Given the description of an element on the screen output the (x, y) to click on. 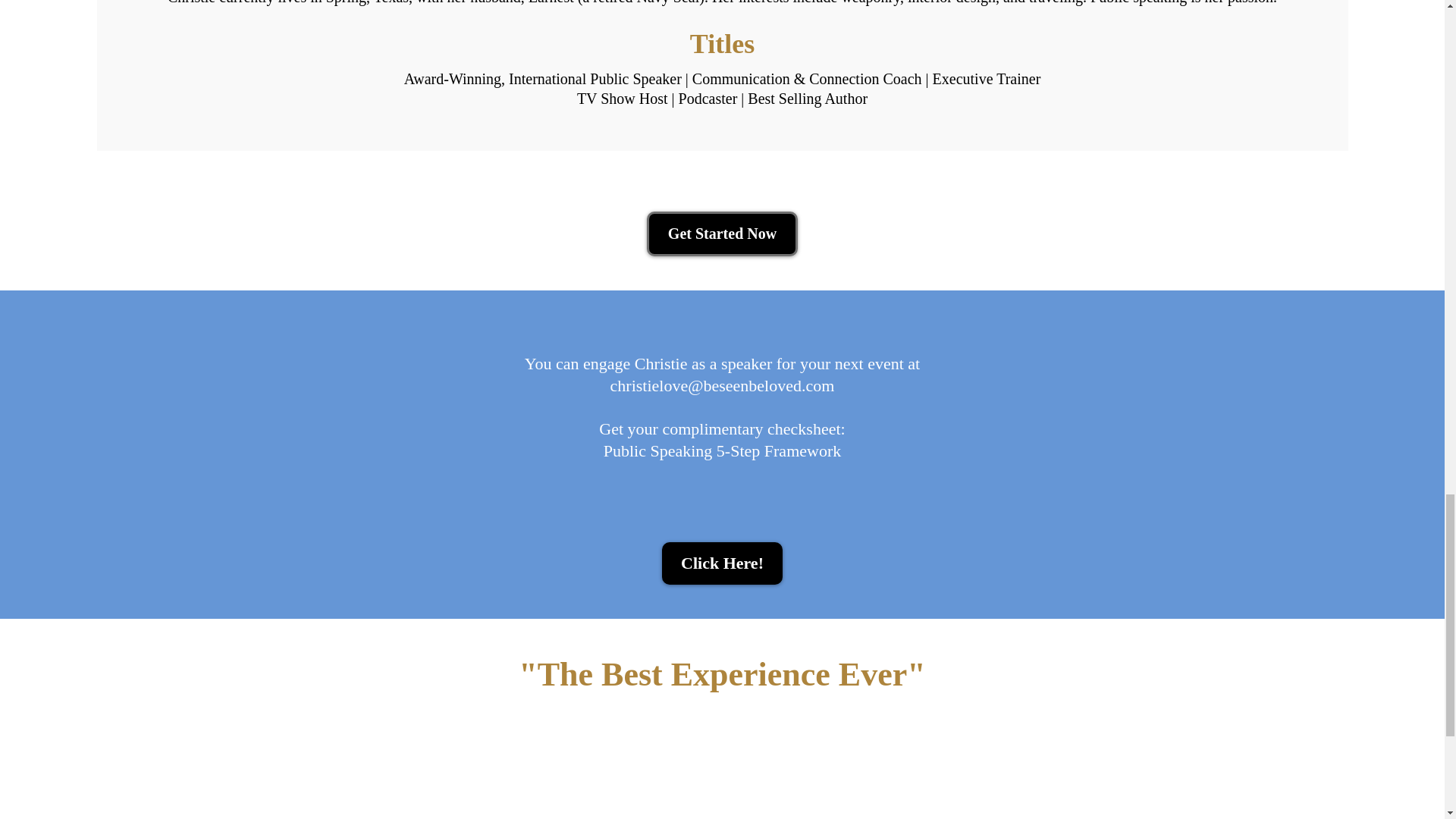
Get Started Now (721, 233)
Click Here! (722, 562)
